Given the description of an element on the screen output the (x, y) to click on. 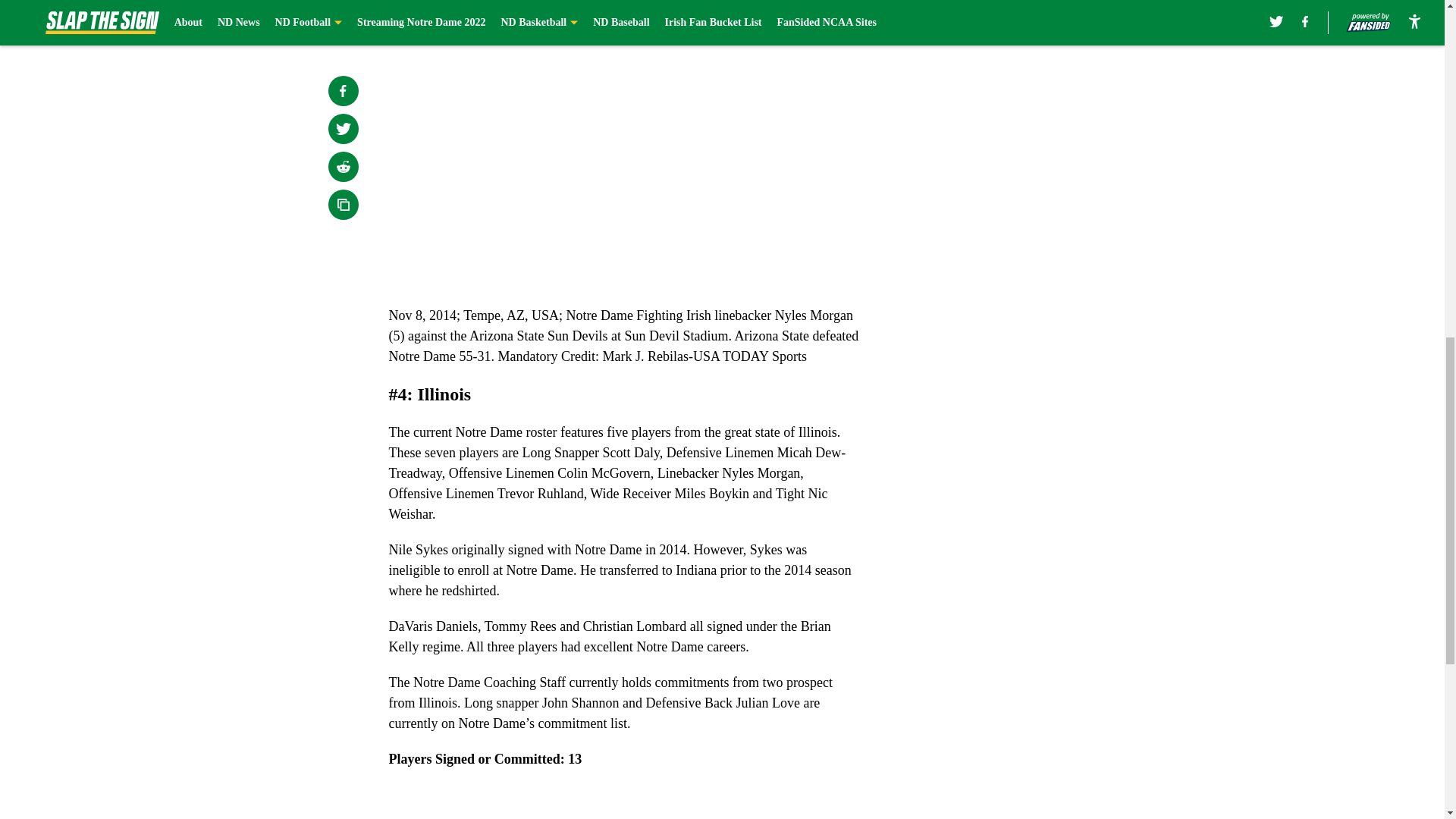
Prev (433, 5)
Next (813, 5)
